Given the description of an element on the screen output the (x, y) to click on. 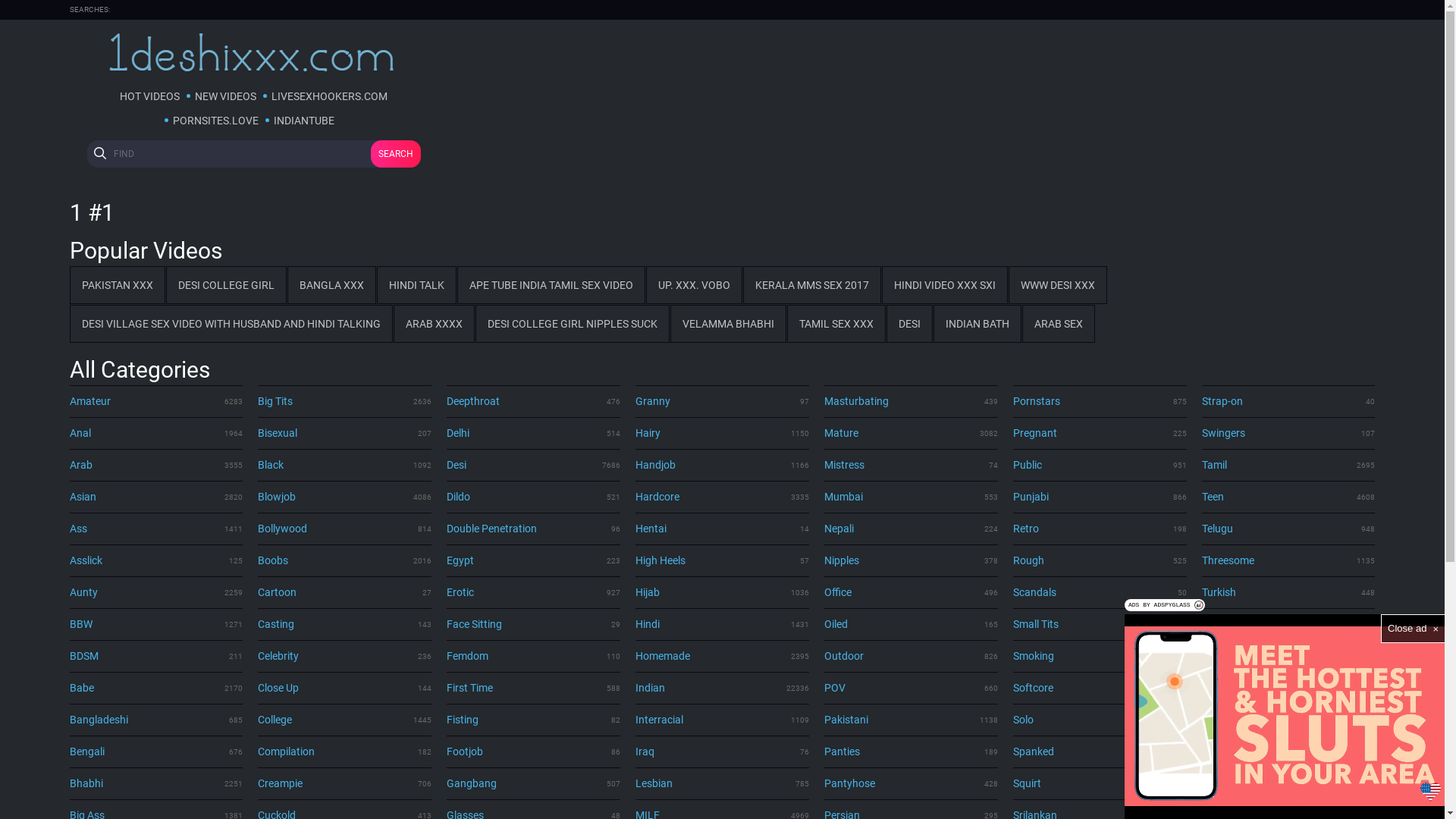
Pakistani
1138 Element type: text (910, 719)
DESI COLLEGE GIRL NIPPLES SUCK Element type: text (571, 323)
Squirt
336 Element type: text (1099, 783)
Nipples
378 Element type: text (910, 560)
Threesome
1135 Element type: text (1288, 560)
Egypt
223 Element type: text (533, 560)
Outdoor
826 Element type: text (910, 655)
Nepali
224 Element type: text (910, 528)
PORNSITES.LOVE Element type: text (215, 120)
HINDI VIDEO XXX SXI Element type: text (944, 285)
SEARCH Element type: text (395, 153)
Mature
3082 Element type: text (910, 432)
Hijab
1036 Element type: text (722, 592)
DESI Element type: text (908, 323)
High Heels
57 Element type: text (722, 560)
Face Sitting
29 Element type: text (533, 624)
Fisting
82 Element type: text (533, 719)
ARAB XXXX Element type: text (432, 323)
Softcore
887 Element type: text (1099, 687)
Asslick
125 Element type: text (156, 560)
Delhi
514 Element type: text (533, 432)
Oiled
165 Element type: text (910, 624)
LIVESEXHOOKERS.COM Element type: text (329, 96)
WWW DESI XXX Element type: text (1057, 285)
Boobs
2016 Element type: text (344, 560)
Mistress
74 Element type: text (910, 464)
DESI COLLEGE GIRL Element type: text (225, 285)
Footjob
86 Element type: text (533, 751)
Bollywood
814 Element type: text (344, 528)
Lesbian
785 Element type: text (722, 783)
Turkish
448 Element type: text (1288, 592)
Homemade
2395 Element type: text (722, 655)
Creampie
706 Element type: text (344, 783)
NEW VIDEOS Element type: text (225, 96)
APE TUBE INDIA TAMIL SEX VIDEO Element type: text (550, 285)
Webcam
1227 Element type: text (1288, 687)
Mumbai
553 Element type: text (910, 496)
Bangladeshi
685 Element type: text (156, 719)
Strap-on
40 Element type: text (1288, 401)
BDSM
211 Element type: text (156, 655)
Hentai
14 Element type: text (722, 528)
Gangbang
507 Element type: text (533, 783)
Bhabhi
2251 Element type: text (156, 783)
Arab
3555 Element type: text (156, 464)
Hairy
1150 Element type: text (722, 432)
Scandals
50 Element type: text (1099, 592)
Tamil
2695 Element type: text (1288, 464)
Babe
2170 Element type: text (156, 687)
TAMIL SEX XXX Element type: text (836, 323)
Double Penetration
96 Element type: text (533, 528)
Pregnant
225 Element type: text (1099, 432)
Erotic
927 Element type: text (533, 592)
Pornstars
875 Element type: text (1099, 401)
Granny
97 Element type: text (722, 401)
Bengali
676 Element type: text (156, 751)
UP. XXX. VOBO Element type: text (694, 285)
Swingers
107 Element type: text (1288, 432)
Femdom
110 Element type: text (533, 655)
POV
660 Element type: text (910, 687)
Compilation
182 Element type: text (344, 751)
Rough
525 Element type: text (1099, 560)
KERALA MMS SEX 2017 Element type: text (812, 285)
DESI VILLAGE SEX VIDEO WITH HUSBAND AND HINDI TALKING Element type: text (230, 323)
Hardcore
3335 Element type: text (722, 496)
VELAMMA BHABHI Element type: text (728, 323)
Whore
779 Element type: text (1288, 719)
Blowjob
4086 Element type: text (344, 496)
Desi
7686 Element type: text (533, 464)
Punjabi
866 Element type: text (1099, 496)
INDIANTUBE Element type: text (304, 120)
First Time
588 Element type: text (533, 687)
Dildo
521 Element type: text (533, 496)
PAKISTAN XXX Element type: text (117, 285)
Amateur
6283 Element type: text (156, 401)
Celebrity
236 Element type: text (344, 655)
College
1445 Element type: text (344, 719)
Public
951 Element type: text (1099, 464)
BANGLA XXX Element type: text (330, 285)
Bisexual
207 Element type: text (344, 432)
Iraq
76 Element type: text (722, 751)
HOT VIDEOS Element type: text (149, 96)
Office
496 Element type: text (910, 592)
Telugu
948 Element type: text (1288, 528)
HINDI TALK Element type: text (415, 285)
ARAB SEX Element type: text (1058, 323)
Hindi
1431 Element type: text (722, 624)
Solo
261 Element type: text (1099, 719)
Pantyhose
428 Element type: text (910, 783)
Small Tits
313 Element type: text (1099, 624)
Spanked
89 Element type: text (1099, 751)
Retro
198 Element type: text (1099, 528)
Teen
4608 Element type: text (1288, 496)
Cartoon
27 Element type: text (344, 592)
Aunty
2259 Element type: text (156, 592)
Asian
2820 Element type: text (156, 496)
Anal
1964 Element type: text (156, 432)
Big Tits
2636 Element type: text (344, 401)
Ass
1411 Element type: text (156, 528)
ADS BY ADSPYGLASS Element type: text (1164, 605)
INDIAN BATH Element type: text (976, 323)
Smoking
55 Element type: text (1099, 655)
Close Up
144 Element type: text (344, 687)
Panties
189 Element type: text (910, 751)
Voyeur
516 Element type: text (1288, 655)
BBW
1271 Element type: text (156, 624)
Interracial
1109 Element type: text (722, 719)
Handjob
1166 Element type: text (722, 464)
Casting
143 Element type: text (344, 624)
Black
1092 Element type: text (344, 464)
Uniform
314 Element type: text (1288, 624)
Deepthroat
476 Element type: text (533, 401)
Masturbating
439 Element type: text (910, 401)
Indian
22336 Element type: text (722, 687)
